Given the description of an element on the screen output the (x, y) to click on. 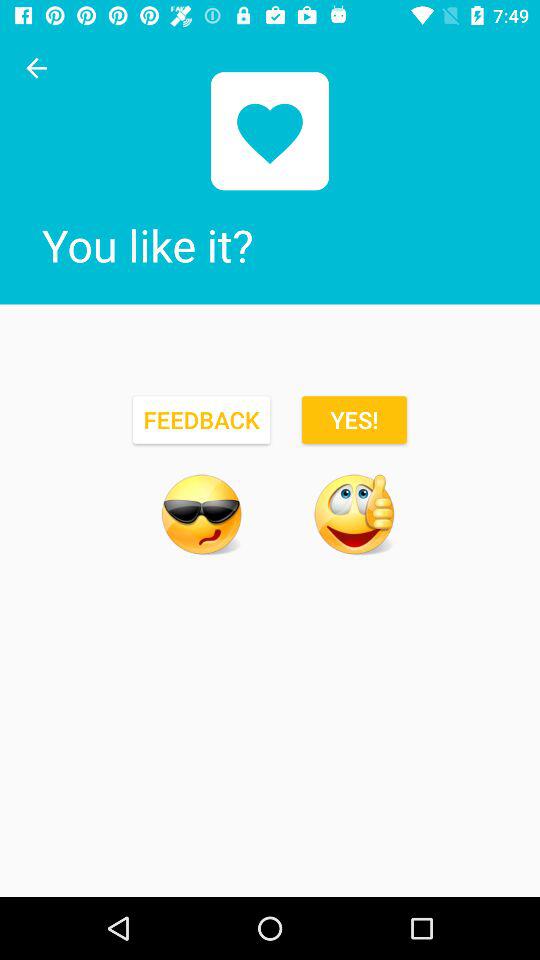
go to back (36, 68)
